Given the description of an element on the screen output the (x, y) to click on. 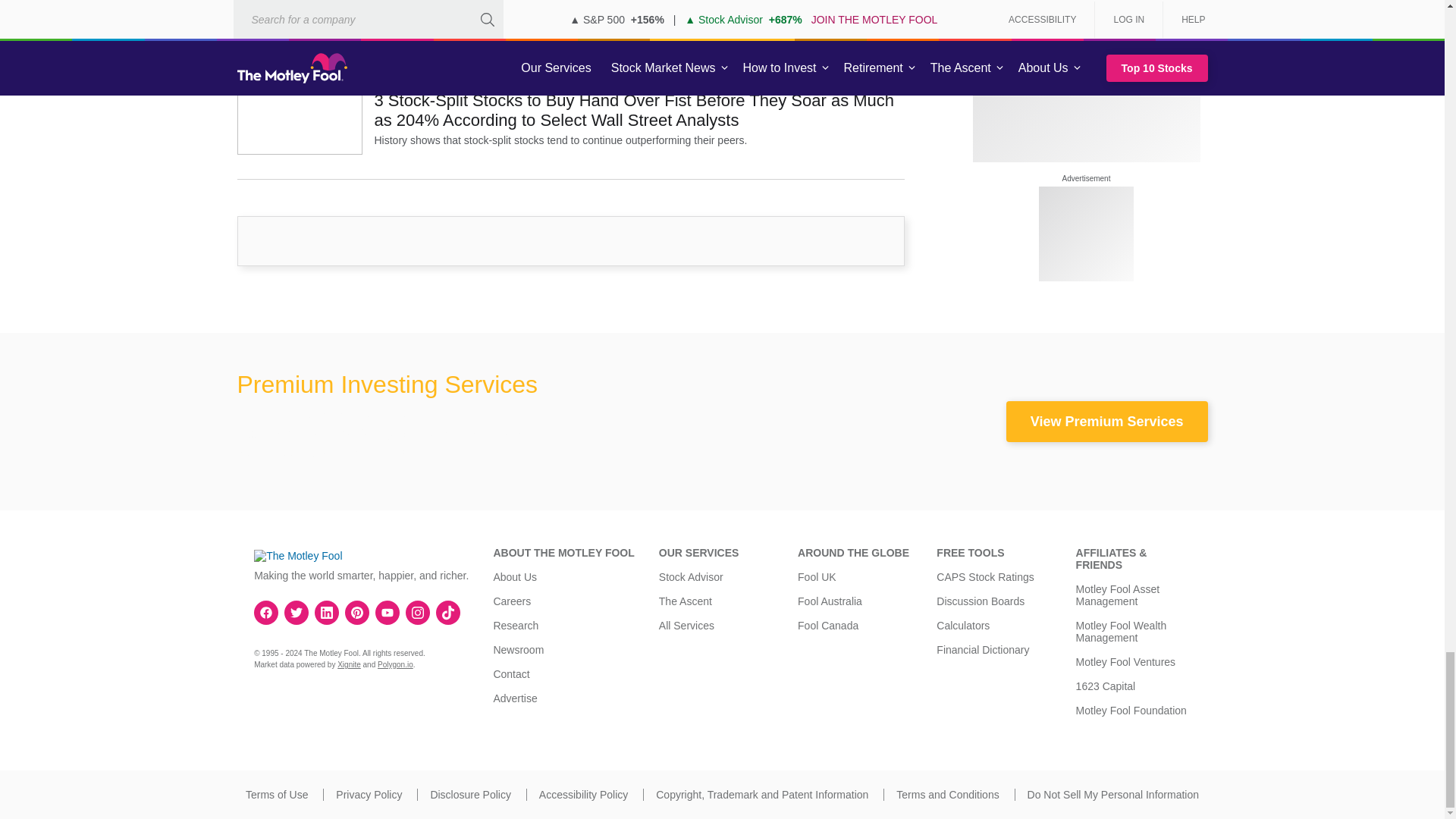
Copyright, Trademark and Patent Information (761, 794)
Privacy Policy (368, 794)
Do Not Sell My Personal Information. (1112, 794)
Accessibility Policy (582, 794)
Terms and Conditions (947, 794)
Terms of Use (276, 794)
Disclosure Policy (470, 794)
